Given the description of an element on the screen output the (x, y) to click on. 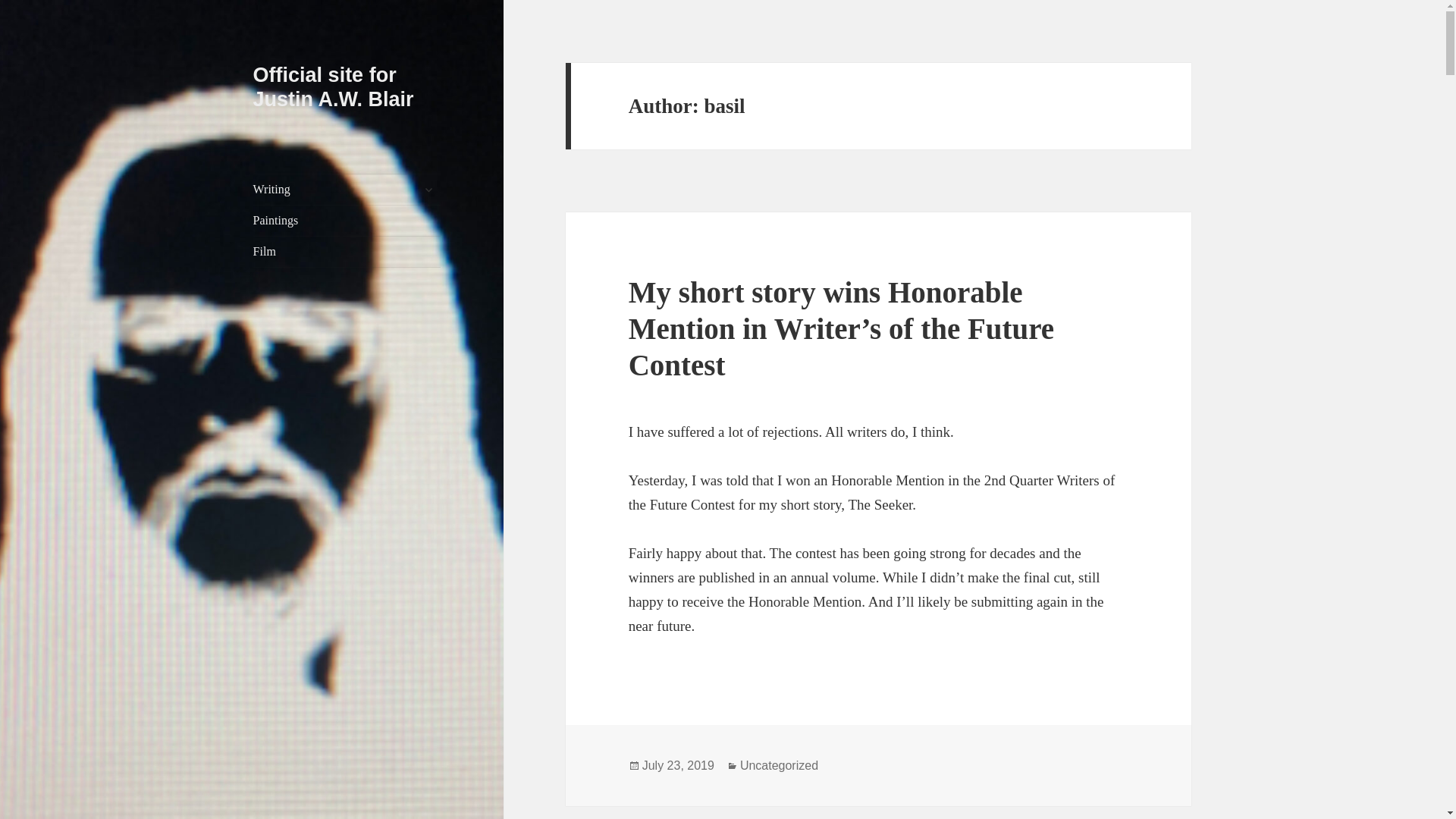
expand child menu (428, 189)
Film (347, 251)
Uncategorized (778, 766)
Writing (347, 189)
July 23, 2019 (678, 766)
Paintings (347, 220)
Official site for Justin A.W. Blair (333, 86)
